Given the description of an element on the screen output the (x, y) to click on. 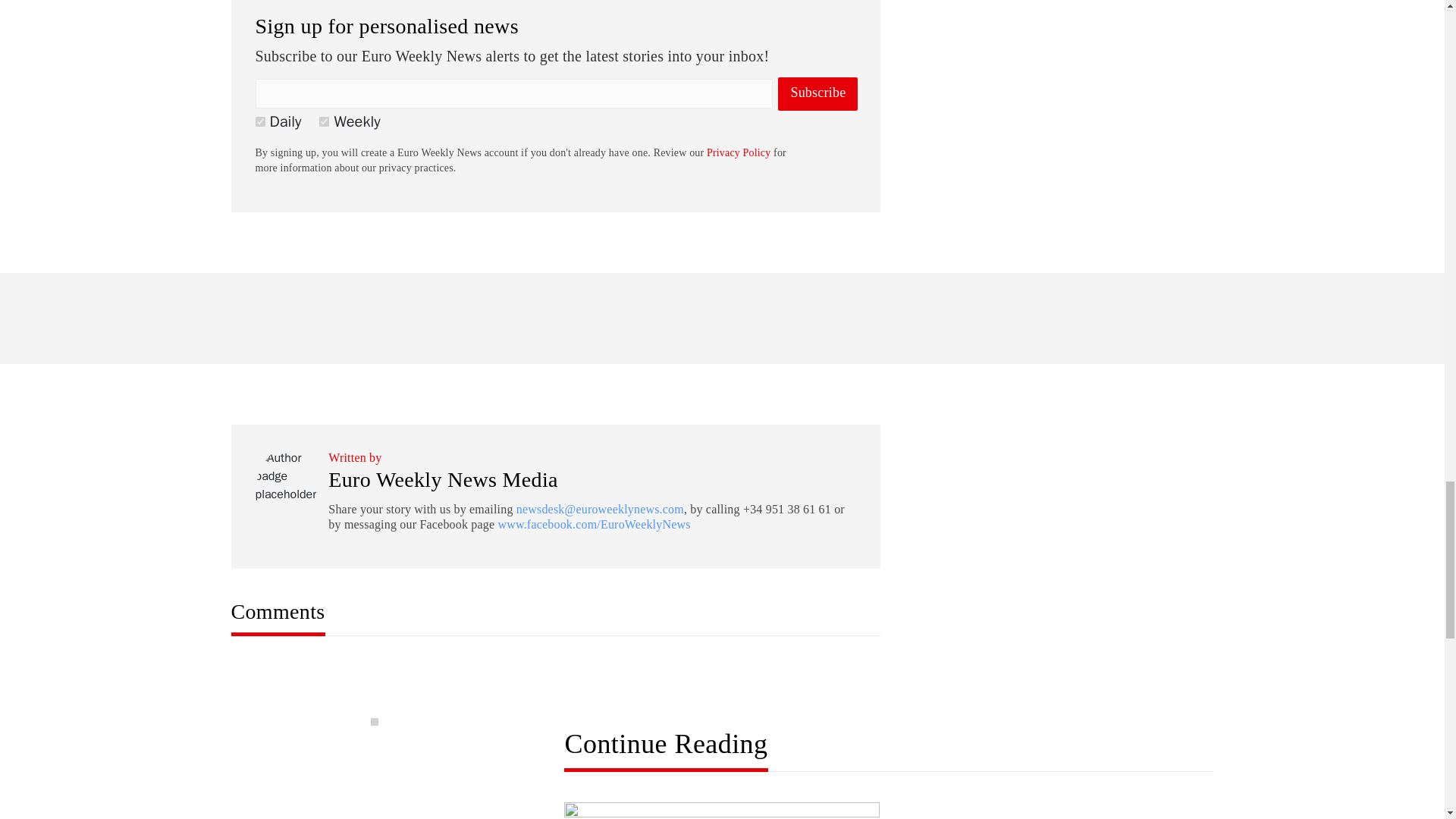
Subscribe (817, 93)
7 (323, 121)
6 (259, 121)
